Given the description of an element on the screen output the (x, y) to click on. 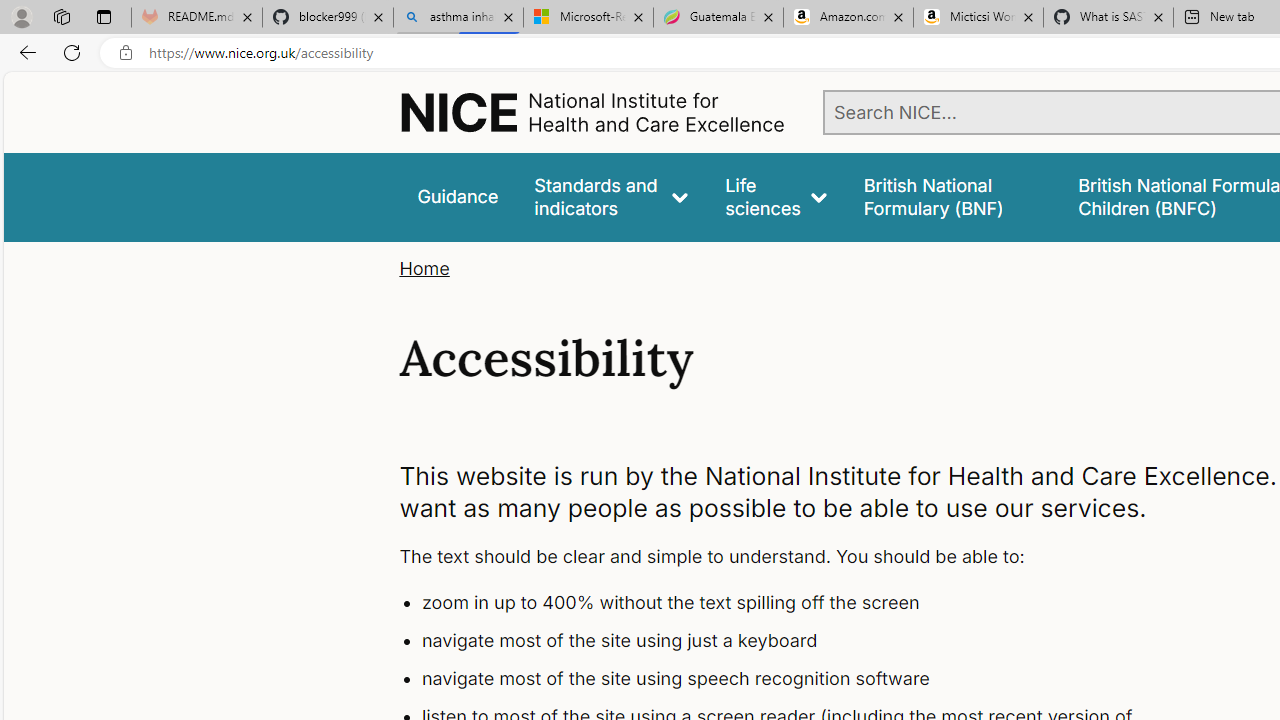
Guidance (458, 196)
Microsoft-Report a Concern to Bing (587, 17)
Life sciences (776, 196)
asthma inhaler - Search (458, 17)
false (952, 196)
